Given the description of an element on the screen output the (x, y) to click on. 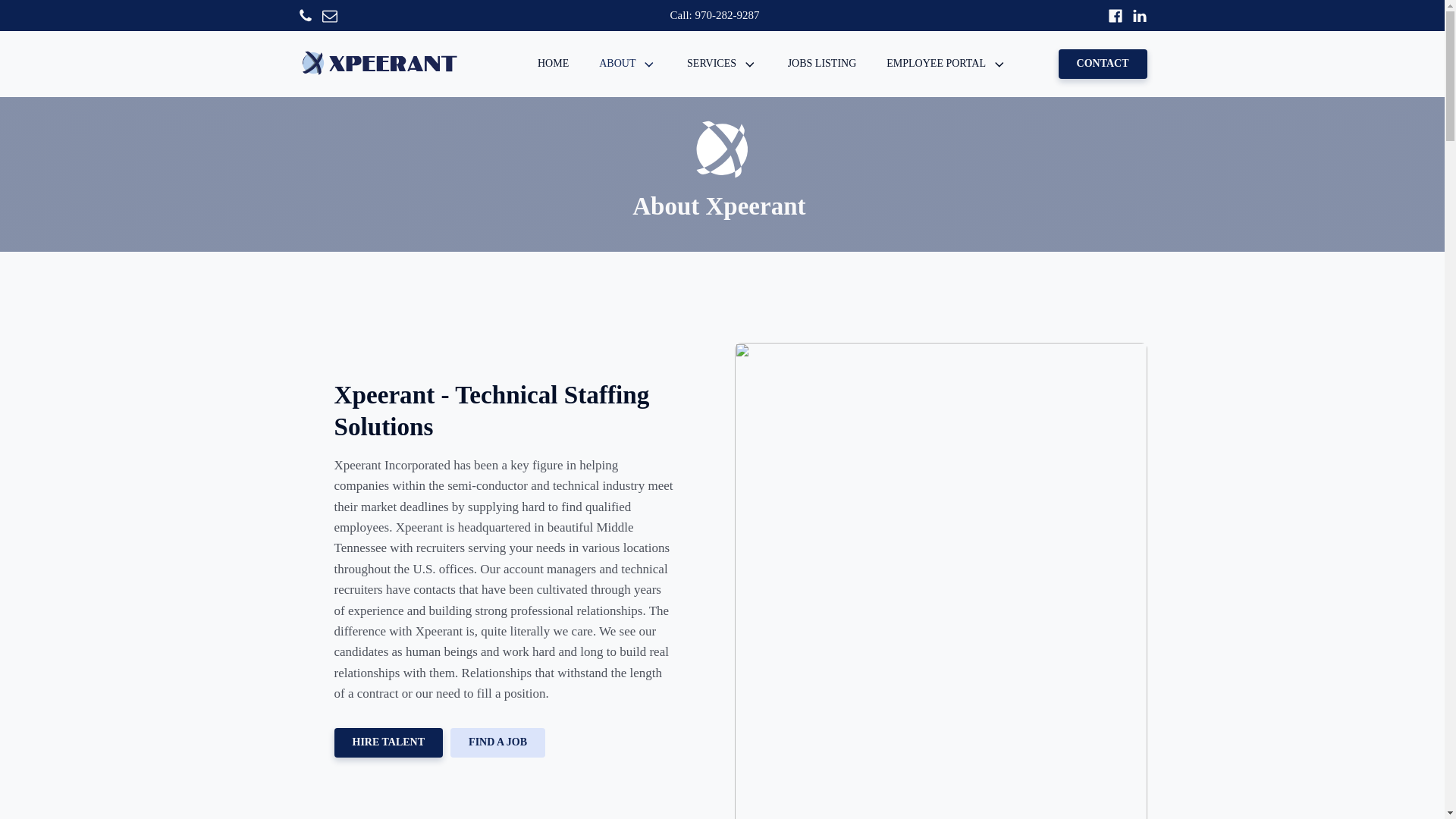
Call: 970-282-9287 (714, 15)
ABOUT (627, 63)
FIND A JOB (496, 742)
JOBS LISTING (822, 63)
SERVICES (722, 63)
EMPLOYEE PORTAL (946, 63)
HIRE TALENT (387, 742)
CONTACT (1102, 63)
